Given the description of an element on the screen output the (x, y) to click on. 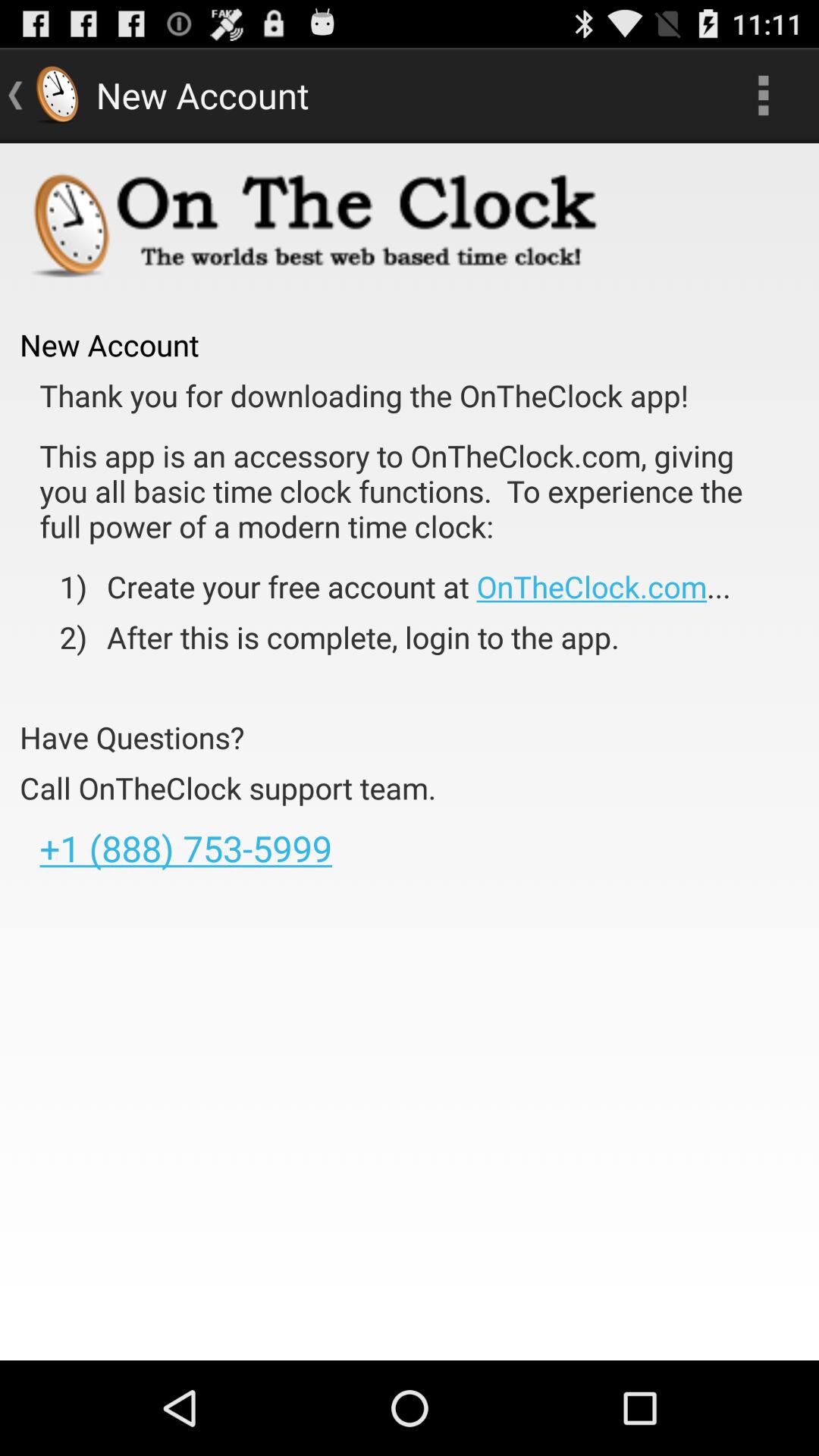
turn on icon below this app is item (408, 586)
